Given the description of an element on the screen output the (x, y) to click on. 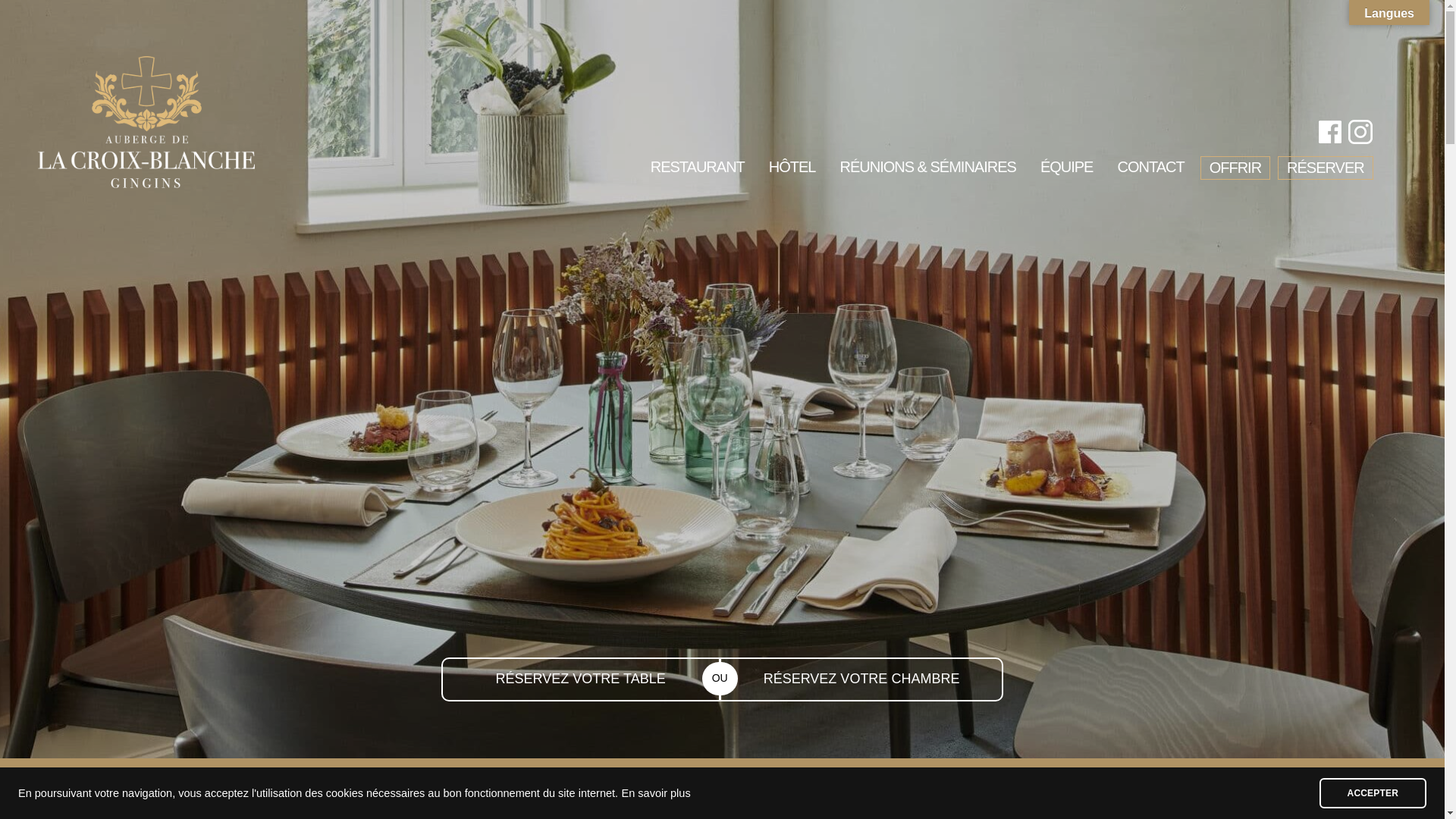
CONTACT Element type: text (1150, 170)
Auberge_Gingins_logo_Mai_2022_Negatif Element type: hover (145, 183)
ACCEPTER Element type: text (1372, 793)
RESTAURANT Element type: text (697, 170)
En savoir plus Element type: text (655, 793)
OFFRIR Element type: text (1235, 170)
Suivez sur Facebook Element type: hover (1329, 131)
Suivez sur Instagram Element type: hover (1360, 131)
